Given the description of an element on the screen output the (x, y) to click on. 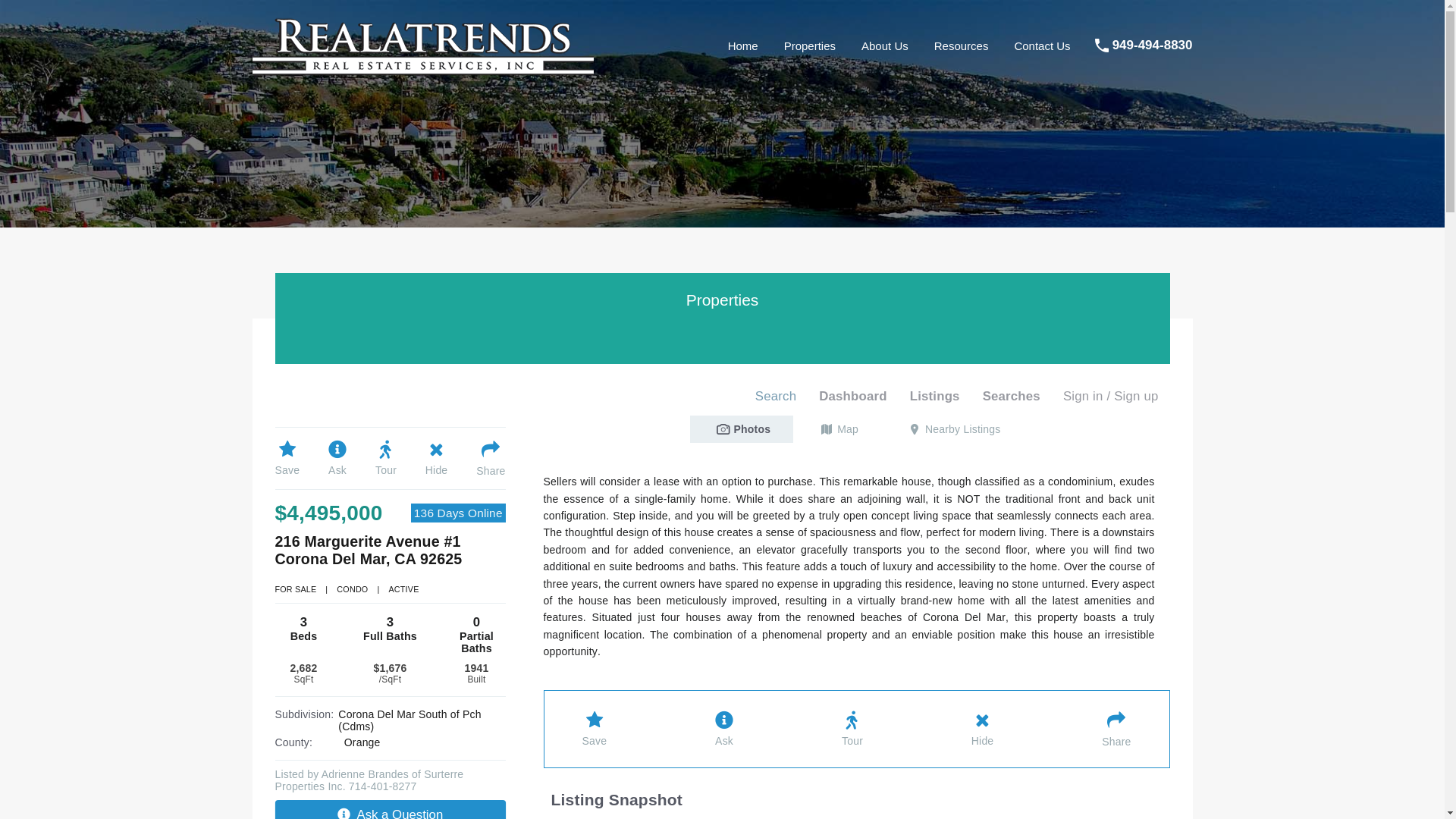
Realatrends Real Estate (421, 69)
Properties (809, 46)
Home (742, 46)
